Given the description of an element on the screen output the (x, y) to click on. 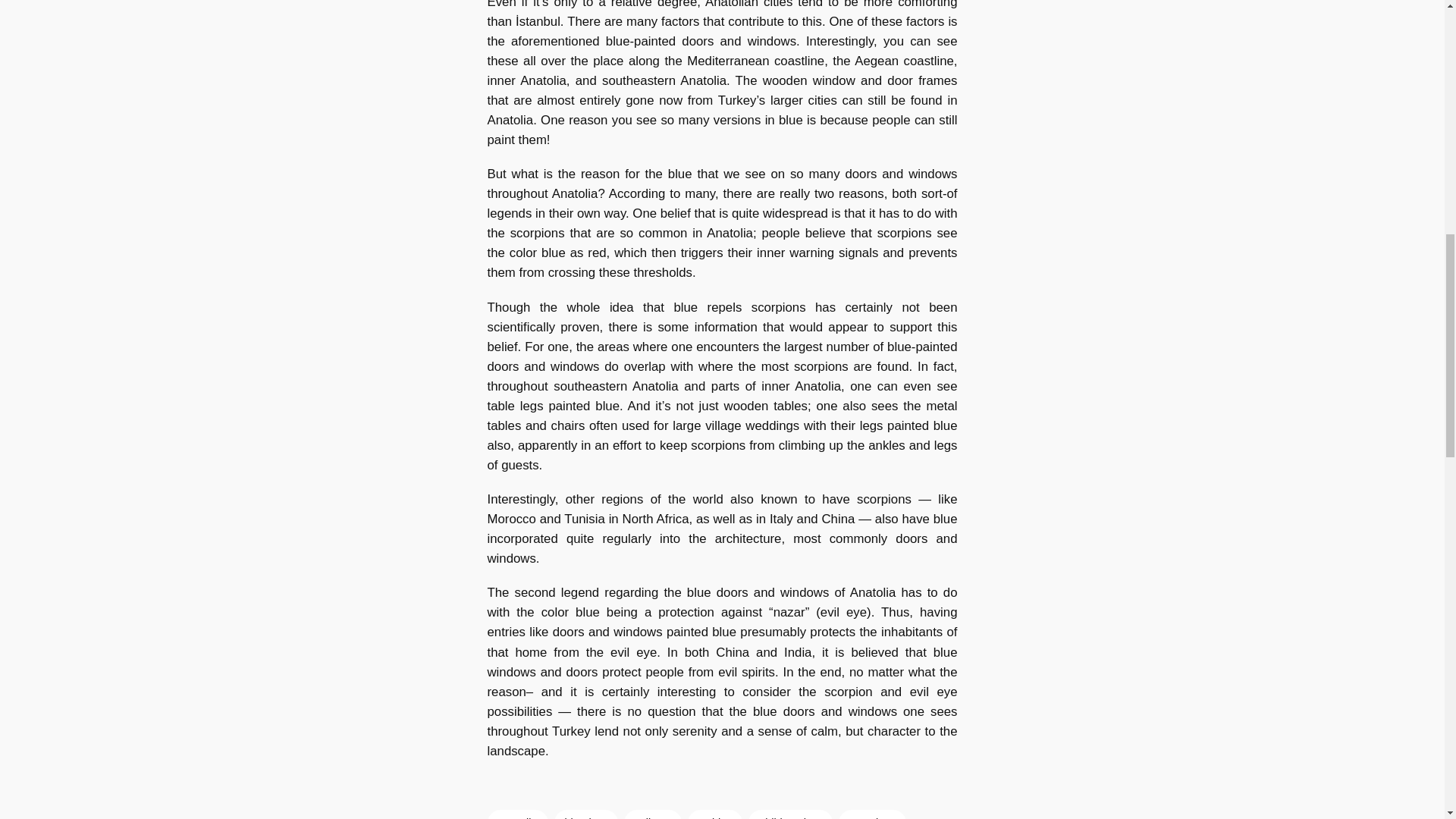
Anatolia (516, 814)
evil eye (653, 814)
scorpions (872, 814)
bluedoor (585, 814)
oldbluesdoor (789, 814)
Knidos (714, 814)
